Given the description of an element on the screen output the (x, y) to click on. 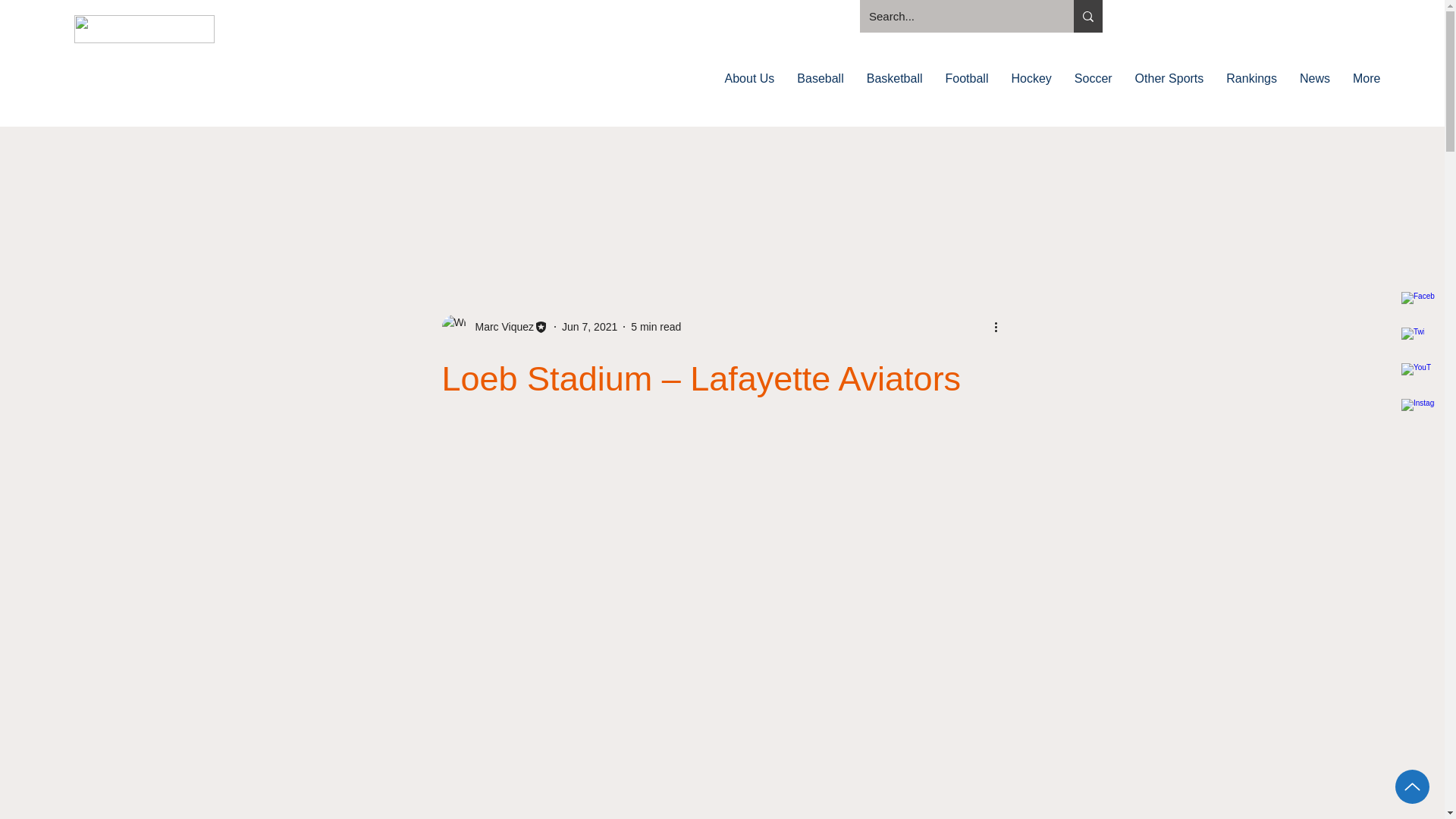
5 min read (655, 326)
Football (967, 88)
Jun 7, 2021 (589, 326)
Marc Viquez (499, 326)
Baseball (820, 88)
Basketball (895, 88)
Hockey (1030, 88)
mail 4.jpeg (144, 29)
About Us (749, 88)
